Given the description of an element on the screen output the (x, y) to click on. 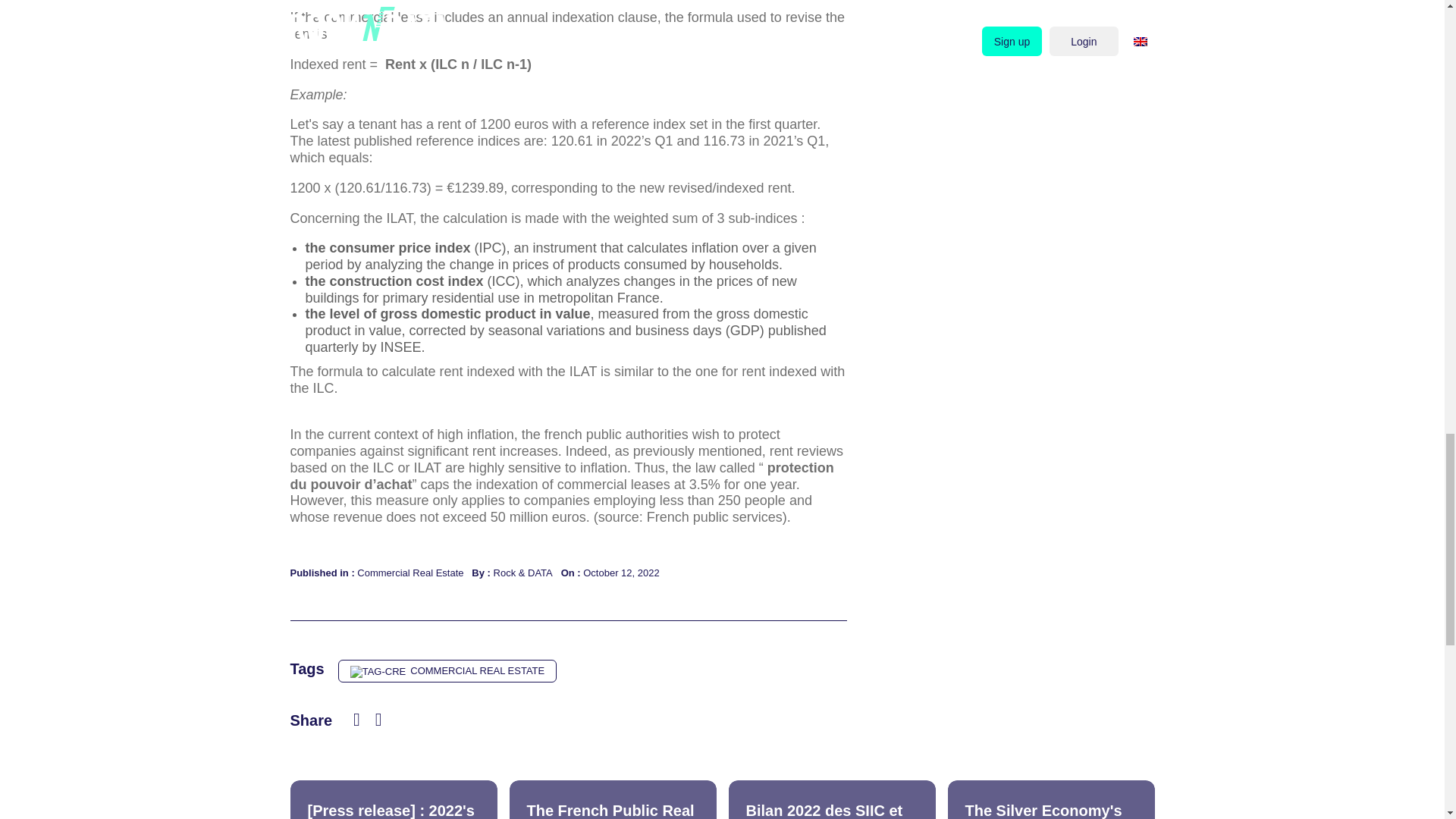
Commercial Real Estate (447, 671)
COMMERCIAL REAL ESTATE (447, 671)
Commercial Real Estate (409, 572)
